Given the description of an element on the screen output the (x, y) to click on. 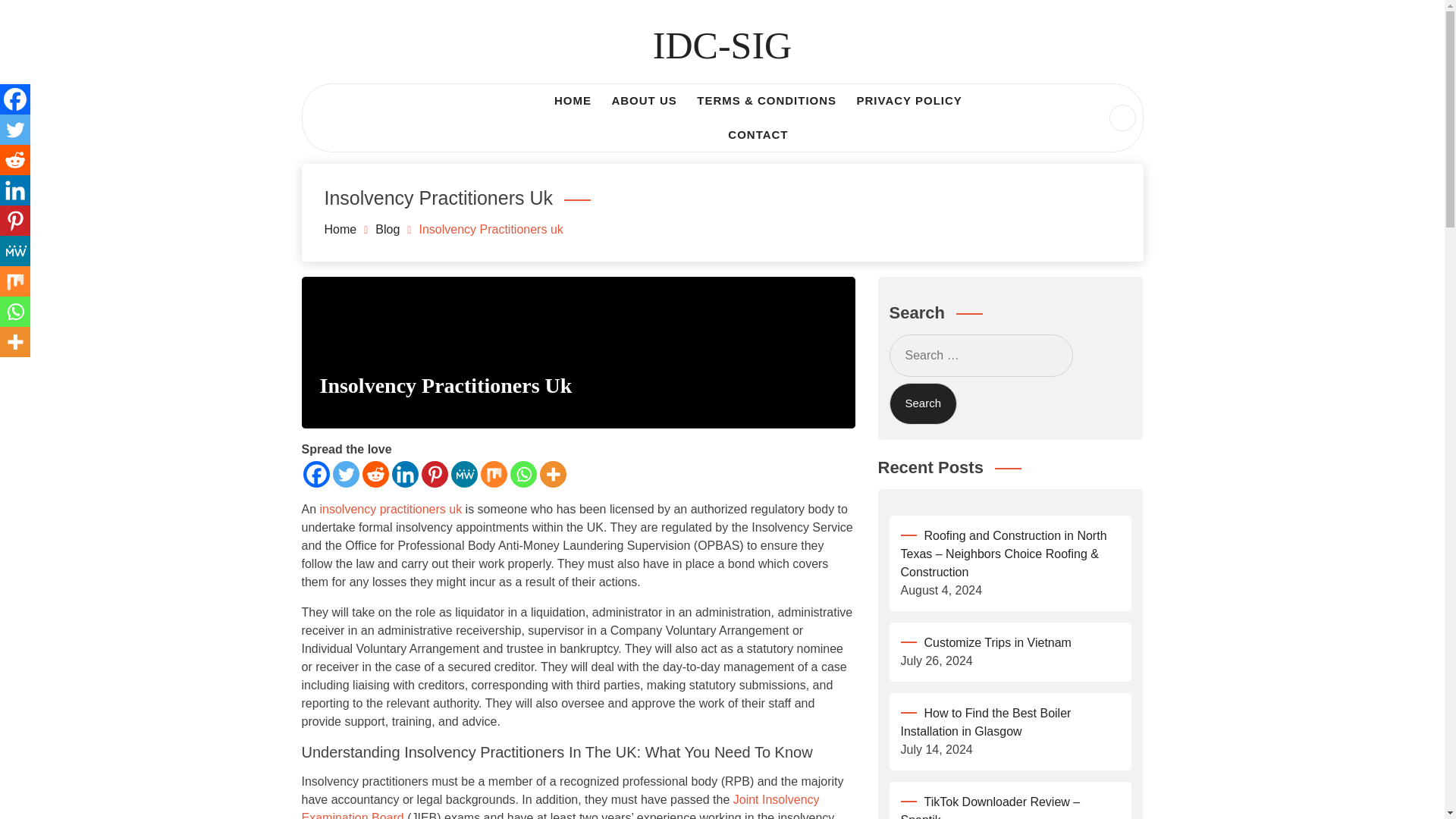
Twitter (15, 129)
PRIVACY POLICY (909, 100)
Linkedin (15, 190)
Twitter (344, 474)
Search (922, 404)
Home (340, 228)
ABOUT US (643, 100)
Search (40, 18)
Whatsapp (522, 474)
HOME (572, 100)
